Given the description of an element on the screen output the (x, y) to click on. 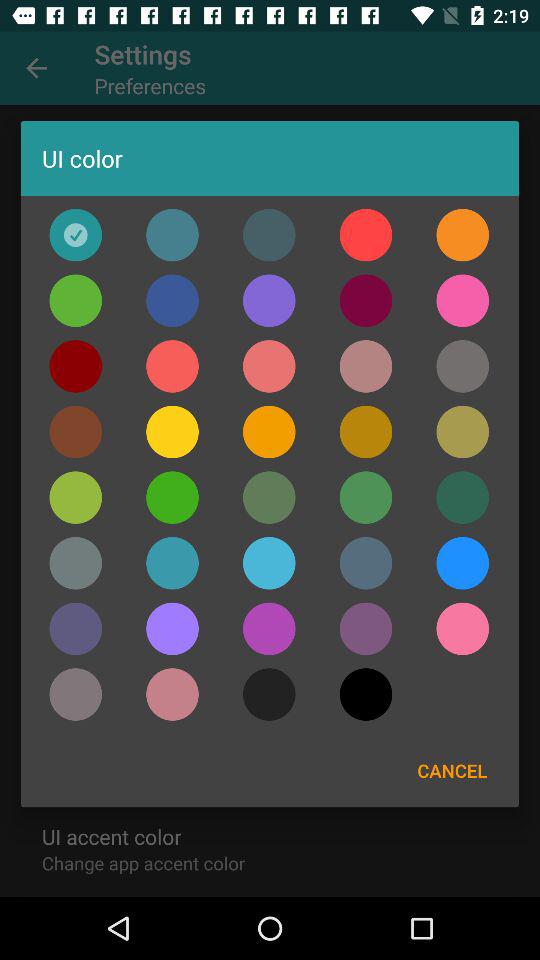
select purpleish ui color (172, 694)
